Given the description of an element on the screen output the (x, y) to click on. 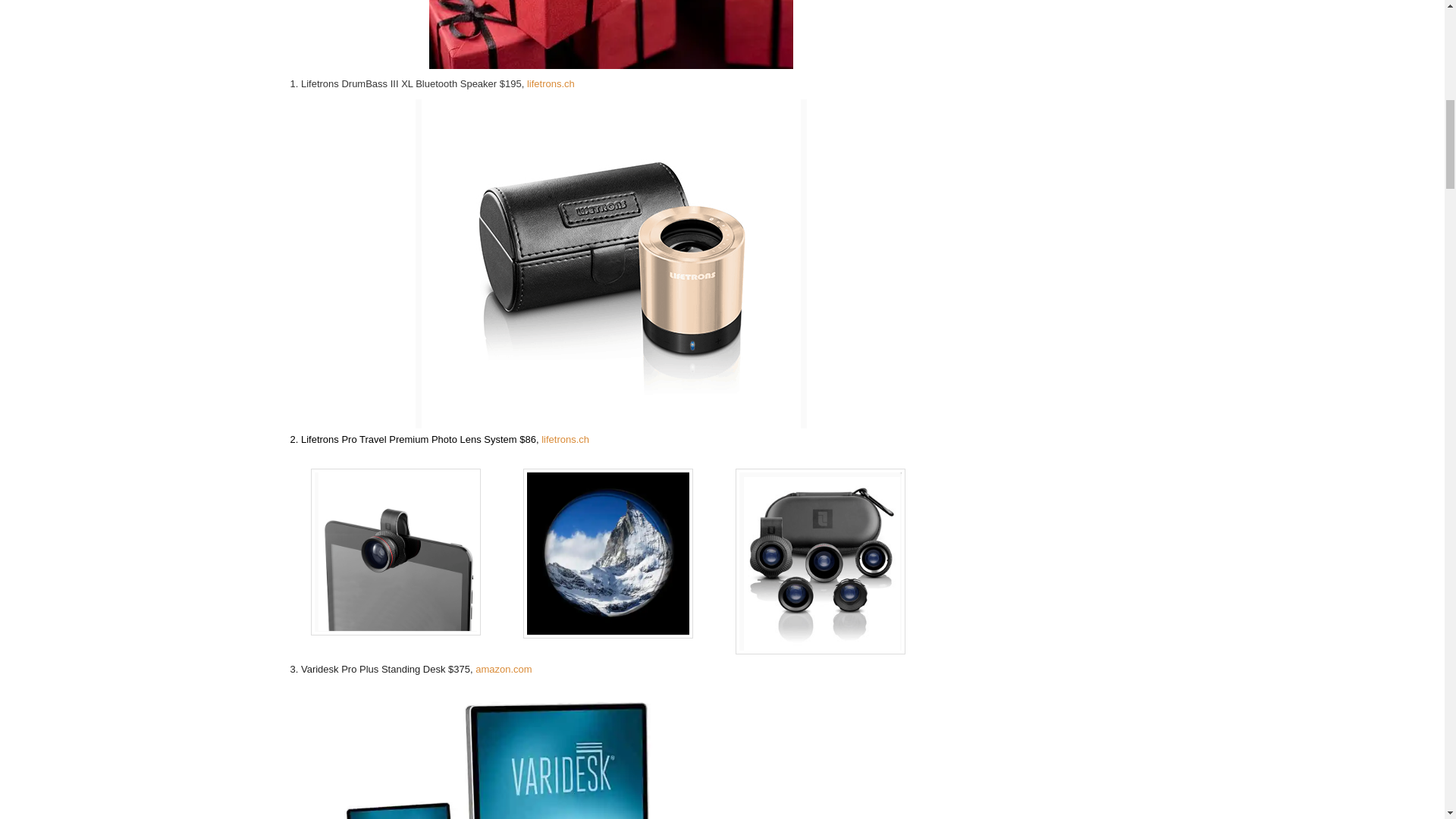
lifetrons.ch (551, 83)
amazon.com (503, 668)
lifetrons.ch (565, 439)
